Given the description of an element on the screen output the (x, y) to click on. 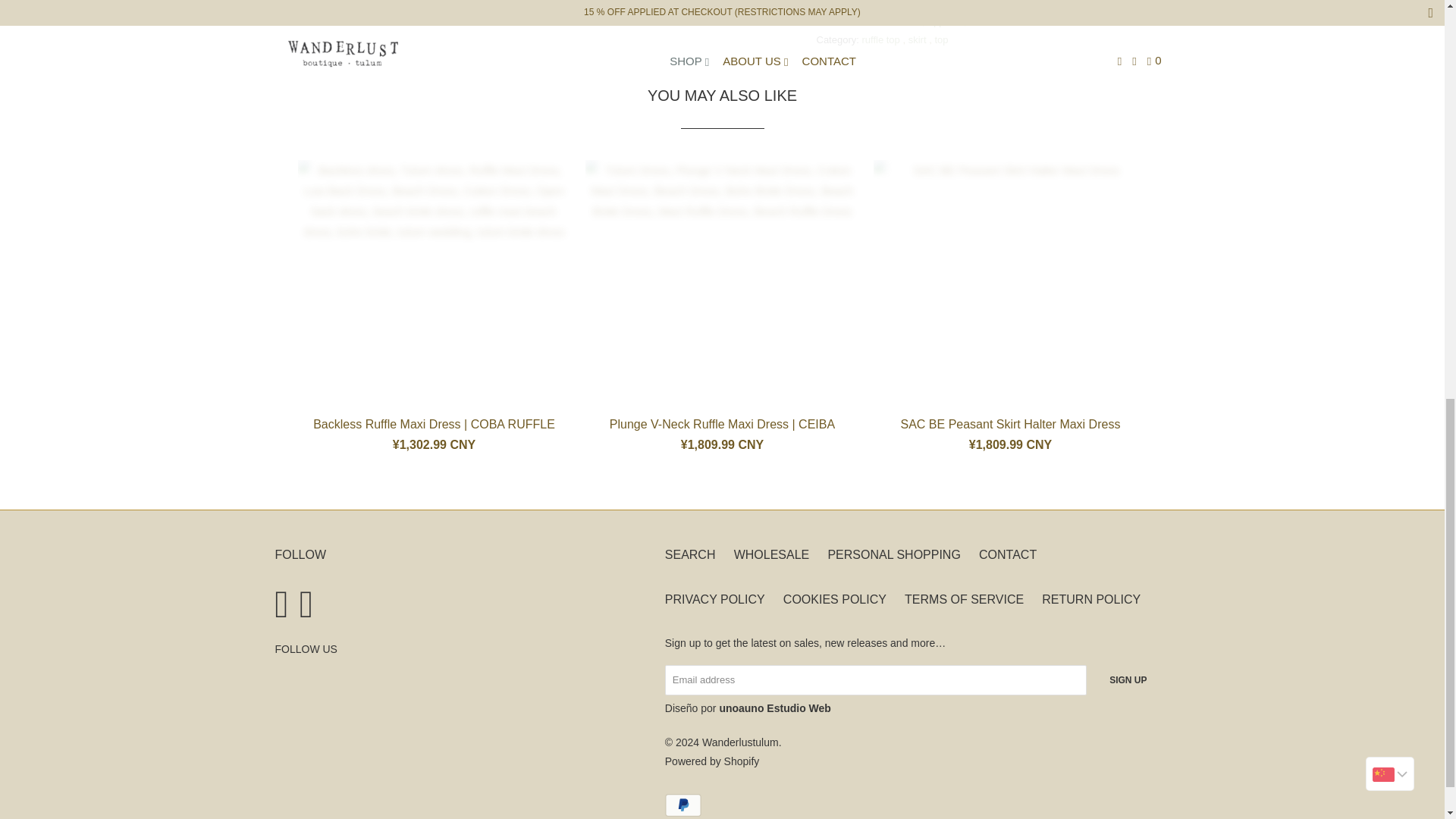
PayPal (684, 804)
All Dresses (895, 21)
Apparel (944, 21)
Sign Up (1127, 680)
